Given the description of an element on the screen output the (x, y) to click on. 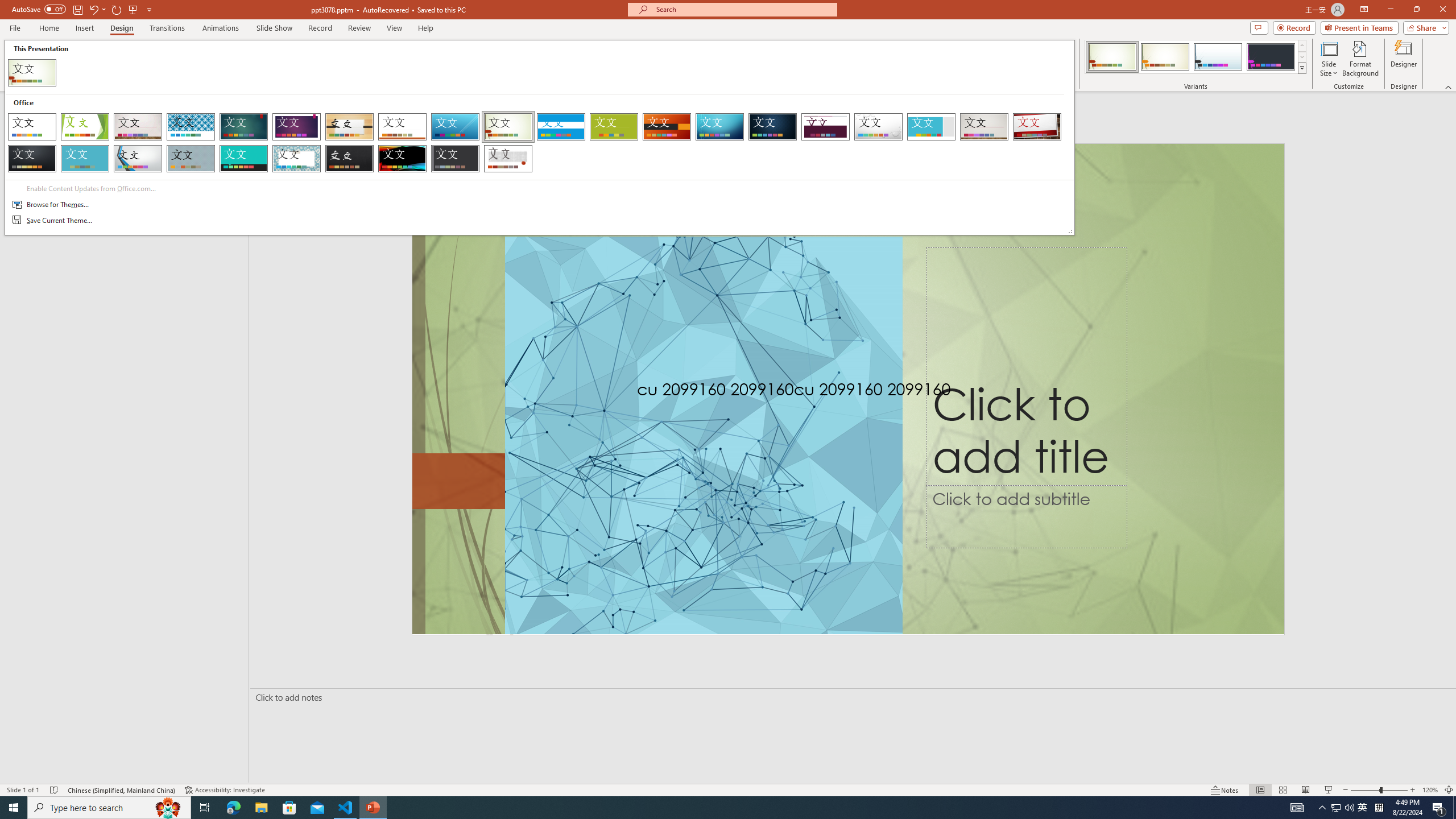
Slide Size (1328, 58)
Tray Input Indicator - Chinese (Simplified, China) (1378, 807)
PowerPoint - 1 running window (373, 807)
Class: NetUIImage (1302, 68)
Visual Studio Code - 1 running window (345, 807)
Wisp Variant 1 (1112, 56)
Microsoft Store (289, 807)
